Given the description of an element on the screen output the (x, y) to click on. 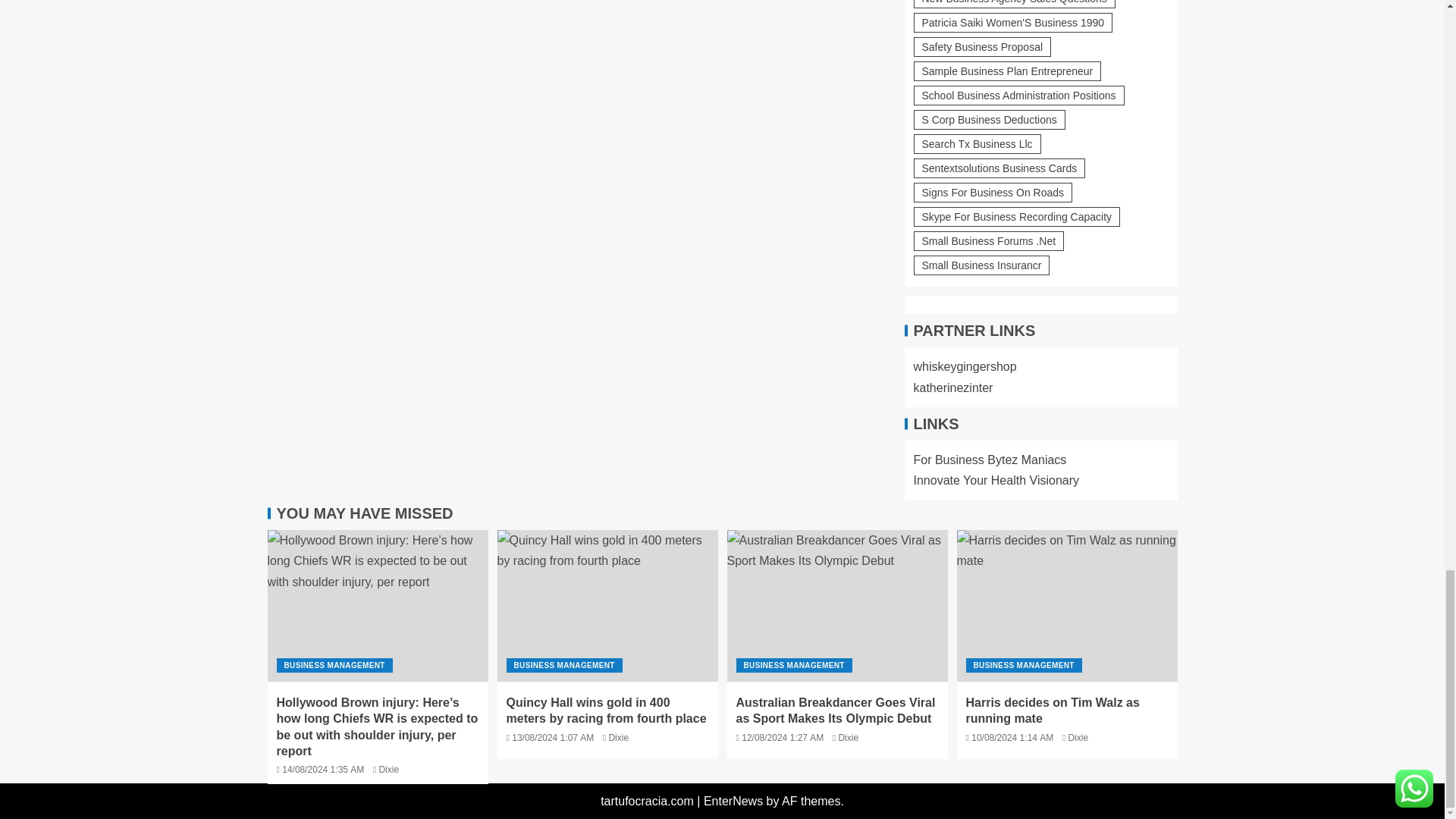
Harris decides on Tim Walz as running mate (1066, 605)
